Given the description of an element on the screen output the (x, y) to click on. 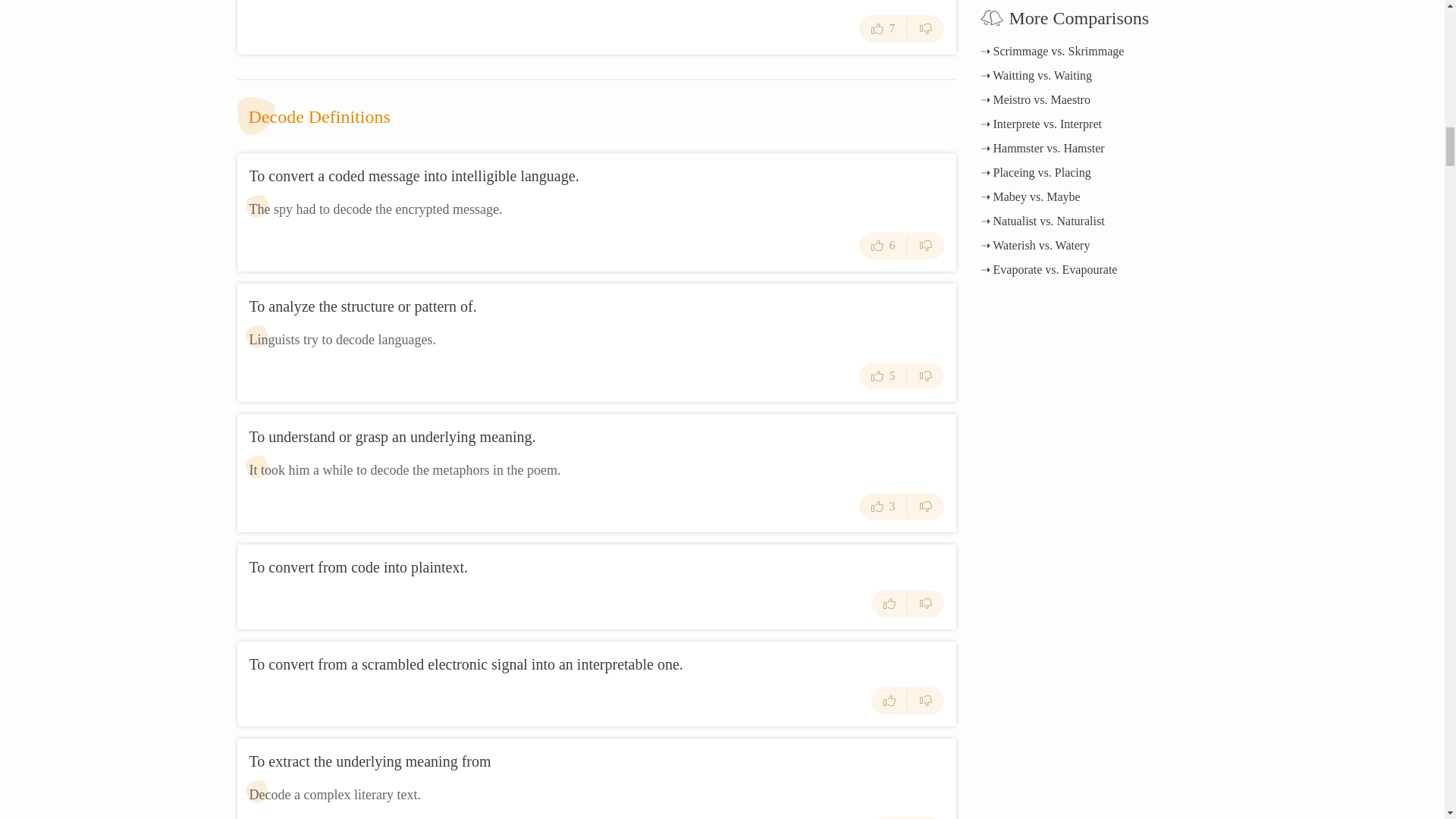
7 (883, 28)
5 (883, 375)
6 (883, 245)
